Given the description of an element on the screen output the (x, y) to click on. 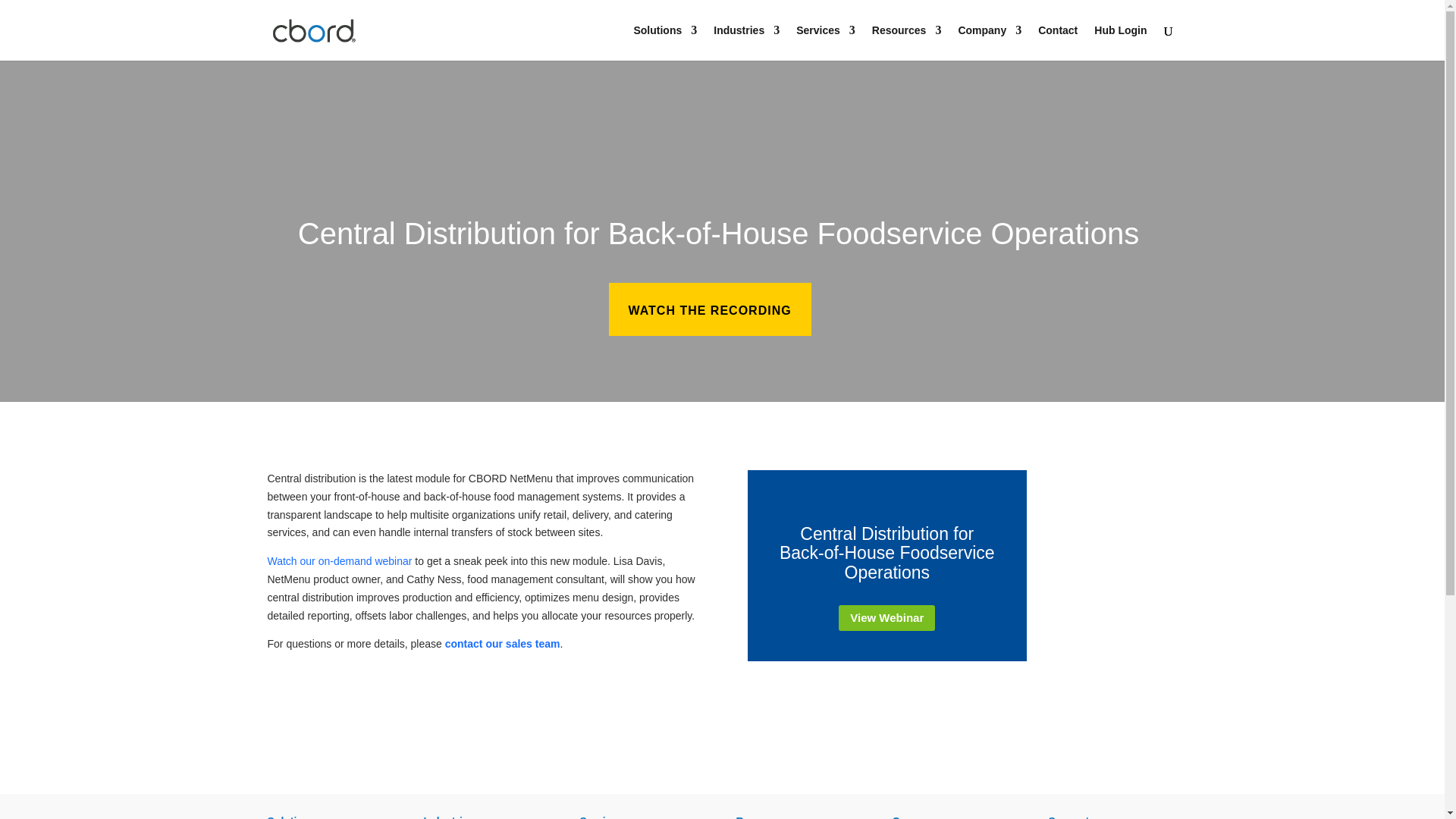
Solutions (665, 42)
Services (826, 42)
Resources (907, 42)
Industries (745, 42)
